Given the description of an element on the screen output the (x, y) to click on. 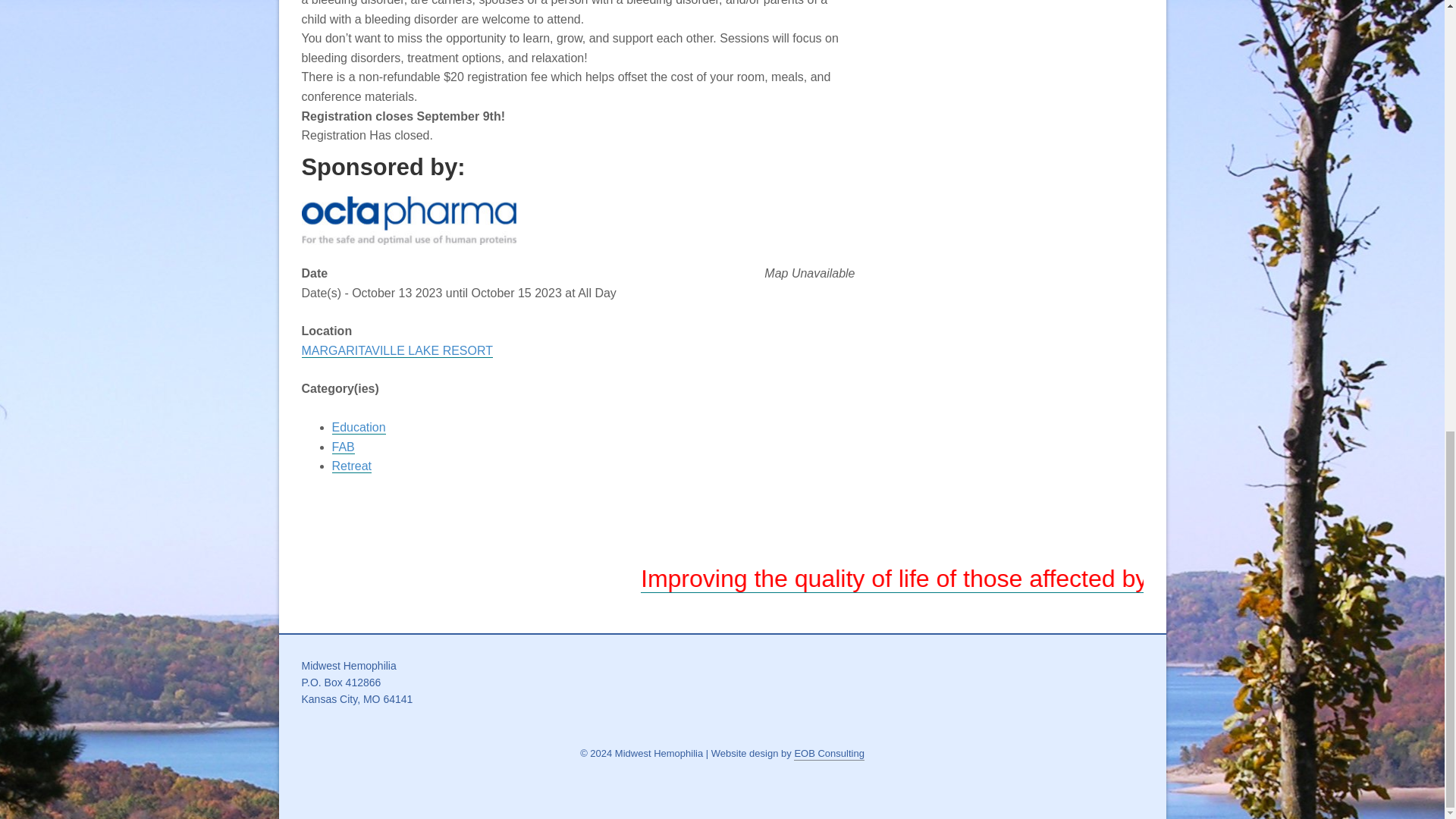
WordPress Consulting (828, 753)
EOB Consulting (828, 753)
Retreat (351, 466)
Education (358, 427)
FAB (343, 447)
MARGARITAVILLE LAKE RESORT (397, 350)
